Given the description of an element on the screen output the (x, y) to click on. 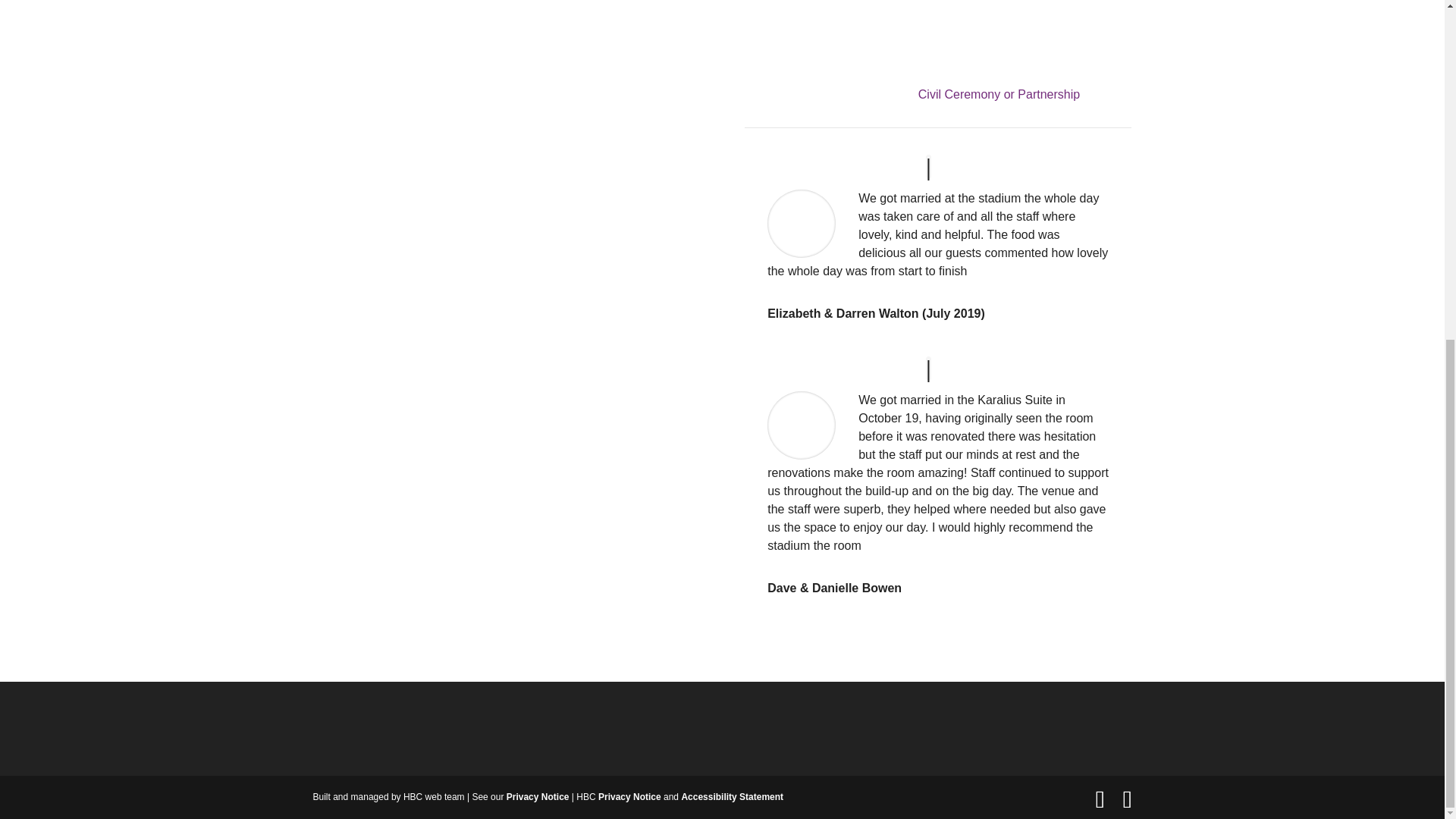
Privacy Notice (537, 796)
Civil Partnerships (999, 93)
Accessibility Statement (732, 796)
Privacy Notice (629, 796)
Civil Ceremony or Partnership (999, 93)
